Given the description of an element on the screen output the (x, y) to click on. 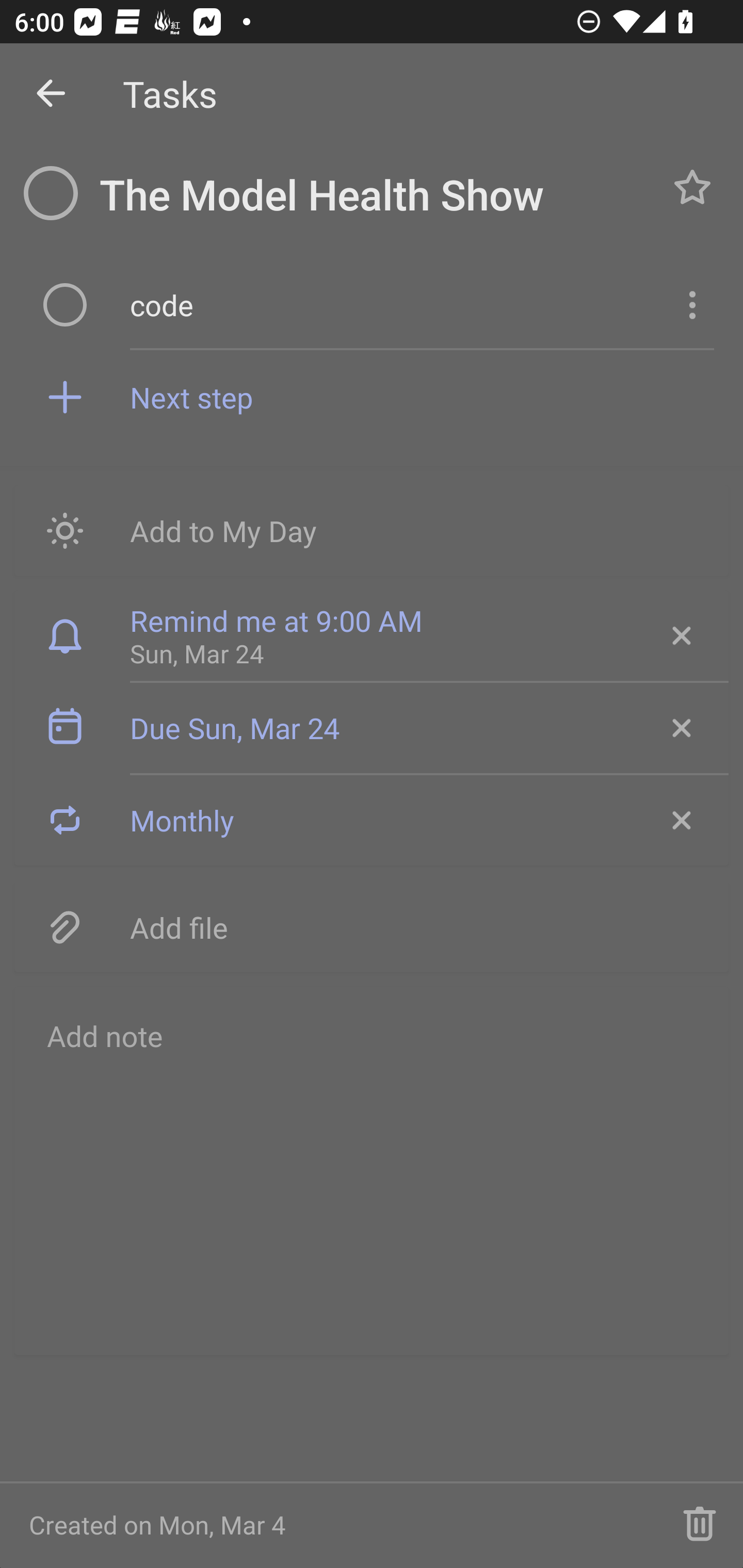
Dismiss detail view (50, 93)
Incomplete task The Model Health Show, Button (50, 192)
The Model Health Show (374, 195)
Normal task The Model Health Show, Button (692, 187)
code (393, 304)
More Options (690, 304)
Uncompleted, code, step, Button (64, 304)
Next step (422, 396)
Add to My Day (371, 530)
Remind me at 9:00 AM Sun, Mar 24 Remove reminder (371, 635)
Remove reminder (679, 635)
Due Sun, Mar 24 Due Sun, Mar 24 Remove due date (371, 728)
Remove due date (679, 728)
Remove recurrence (679, 819)
Add file (371, 926)
Add note, Button Email Renderer Add note (371, 1170)
Delete task (699, 1524)
